Given the description of an element on the screen output the (x, y) to click on. 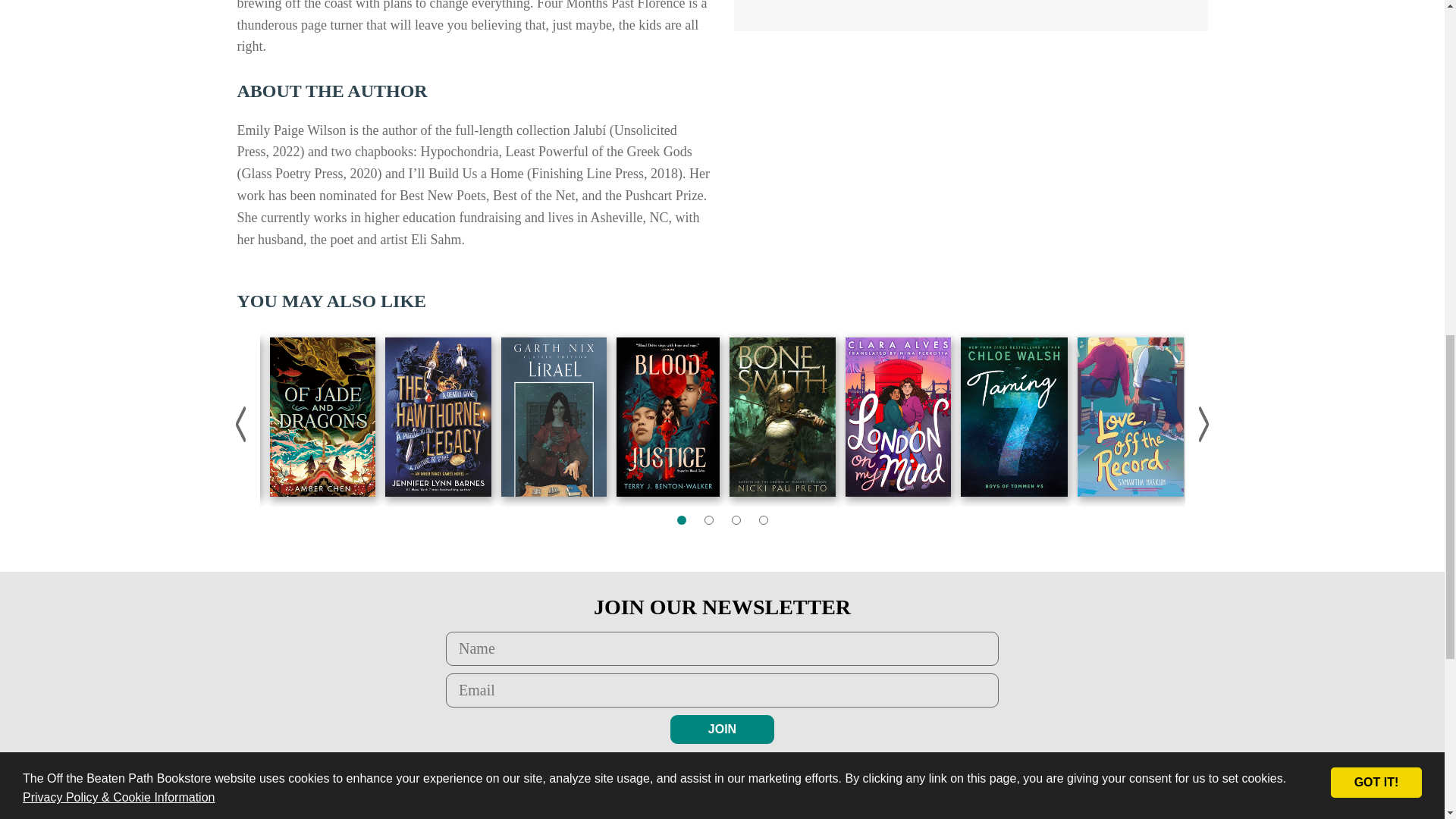
GOT IT! (1376, 59)
Join (721, 728)
